Given the description of an element on the screen output the (x, y) to click on. 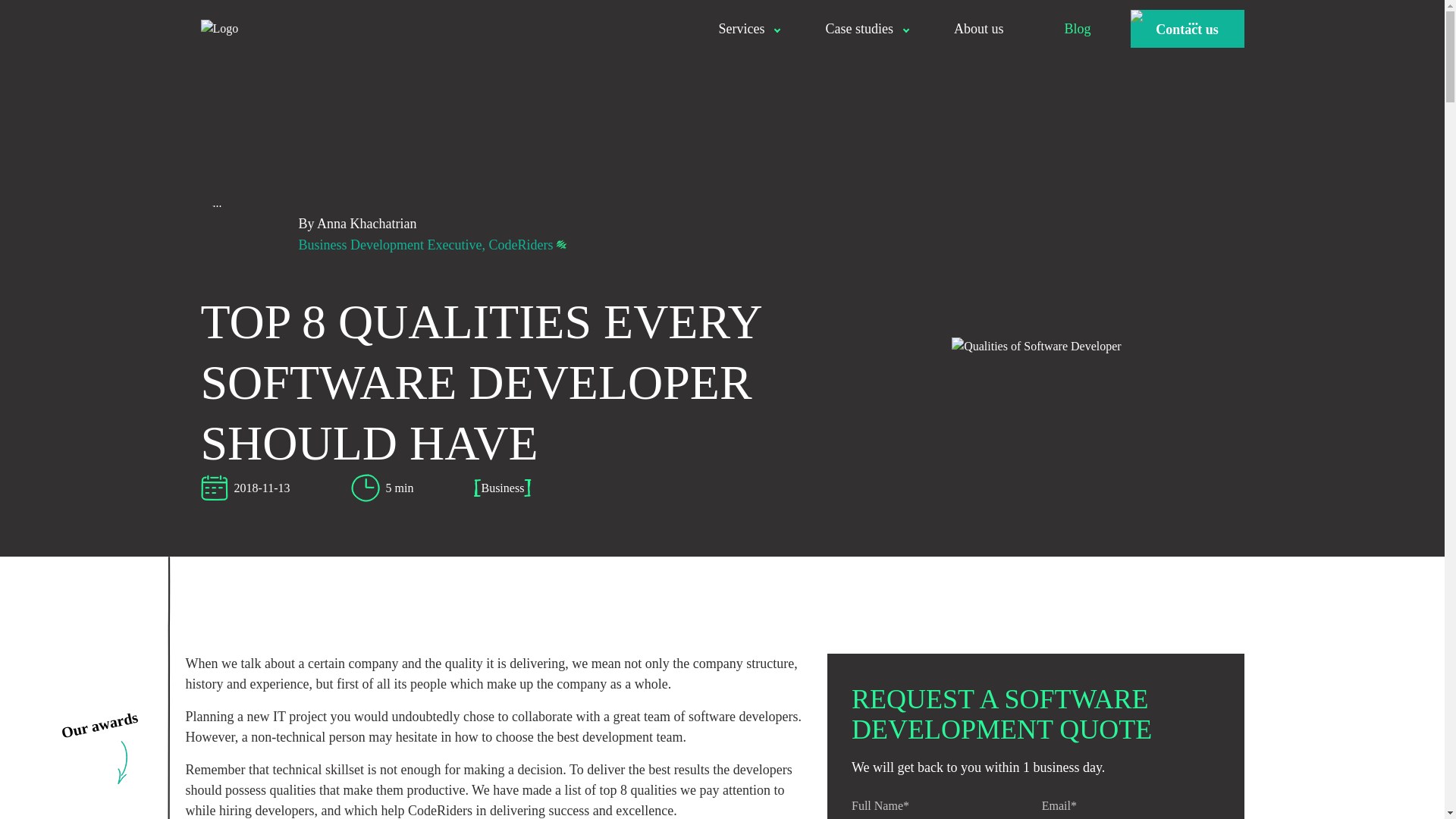
Blog (1076, 28)
Contact us (1186, 28)
8 qualities software developer should have: CodeRiders (1036, 345)
Services (740, 28)
Case studies (858, 28)
About us (979, 28)
